Given the description of an element on the screen output the (x, y) to click on. 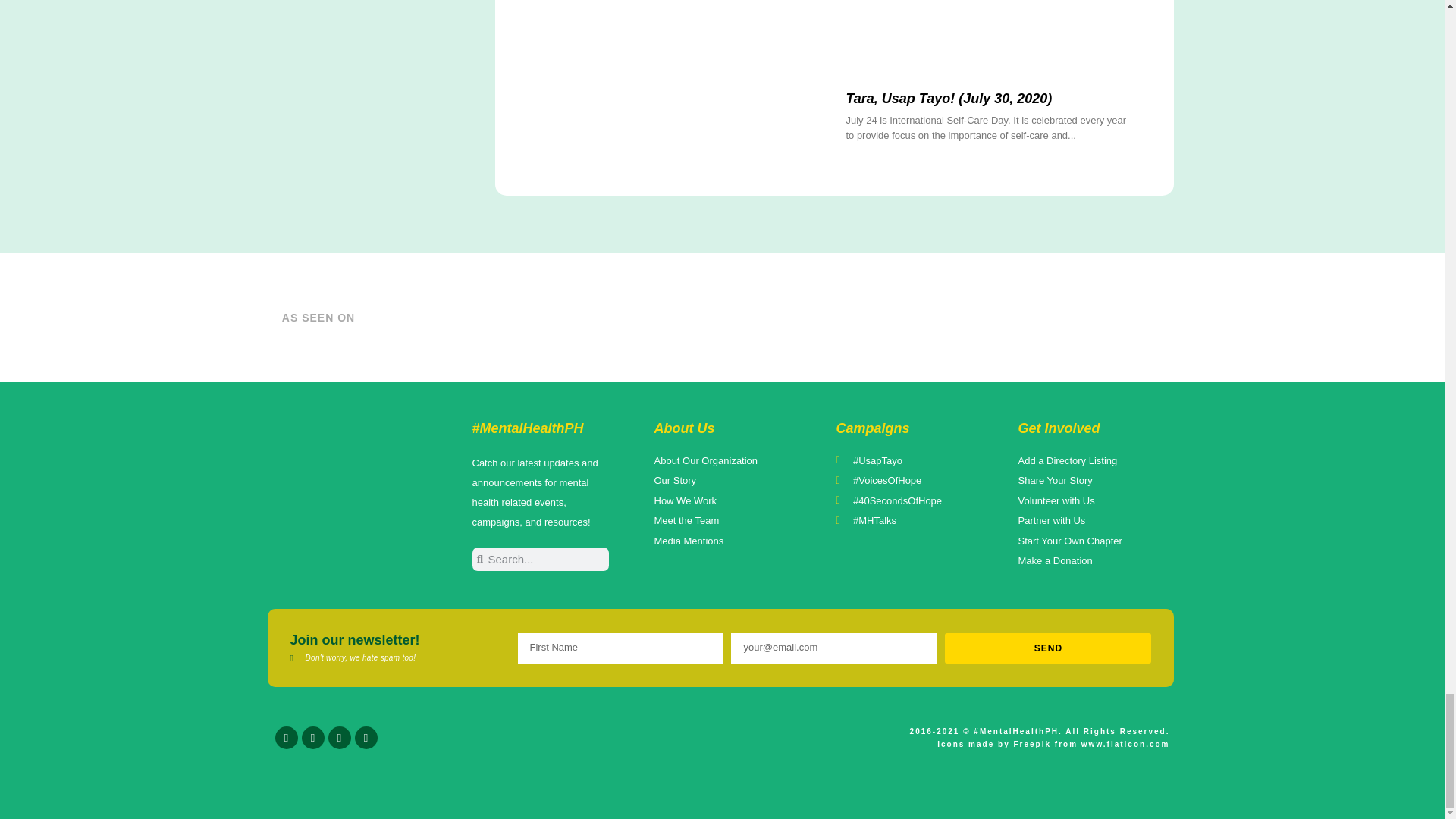
Inquirer-net-logo (859, 317)
cnn-logo-red-white (580, 317)
Freepik (1032, 744)
BusinessMirror-logo (644, 317)
abscbn-logo-black (1101, 317)
Flaticon (1125, 744)
Manila-Bulletin-logo (737, 317)
GMA-News-Online-logo (980, 317)
